Given the description of an element on the screen output the (x, y) to click on. 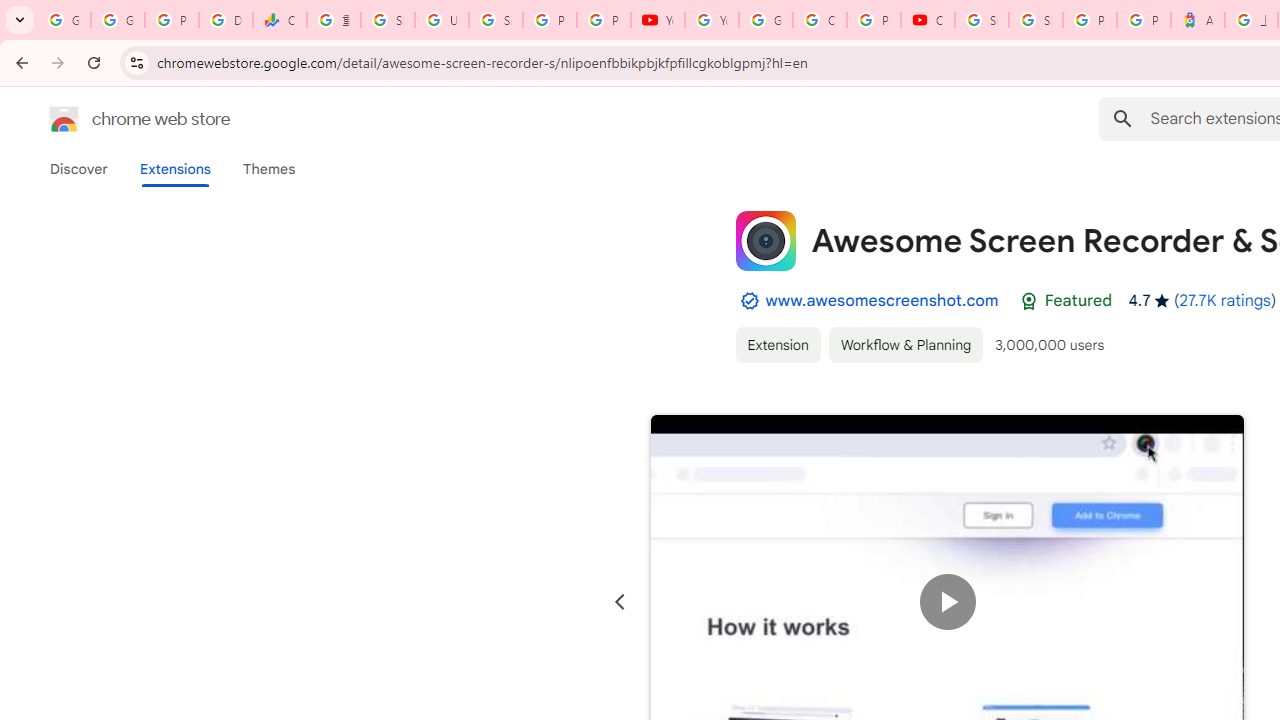
YouTube (657, 20)
Currencies - Google Finance (280, 20)
Create your Google Account (819, 20)
Extensions (174, 169)
www.awesomescreenshot.com (881, 300)
Google Workspace Admin Community (63, 20)
Item logo image for Awesome Screen Recorder & Screenshot (765, 240)
Privacy Checkup (604, 20)
Discover (79, 169)
27.7K ratings (1224, 300)
By Established Publisher Badge (749, 301)
